Given the description of an element on the screen output the (x, y) to click on. 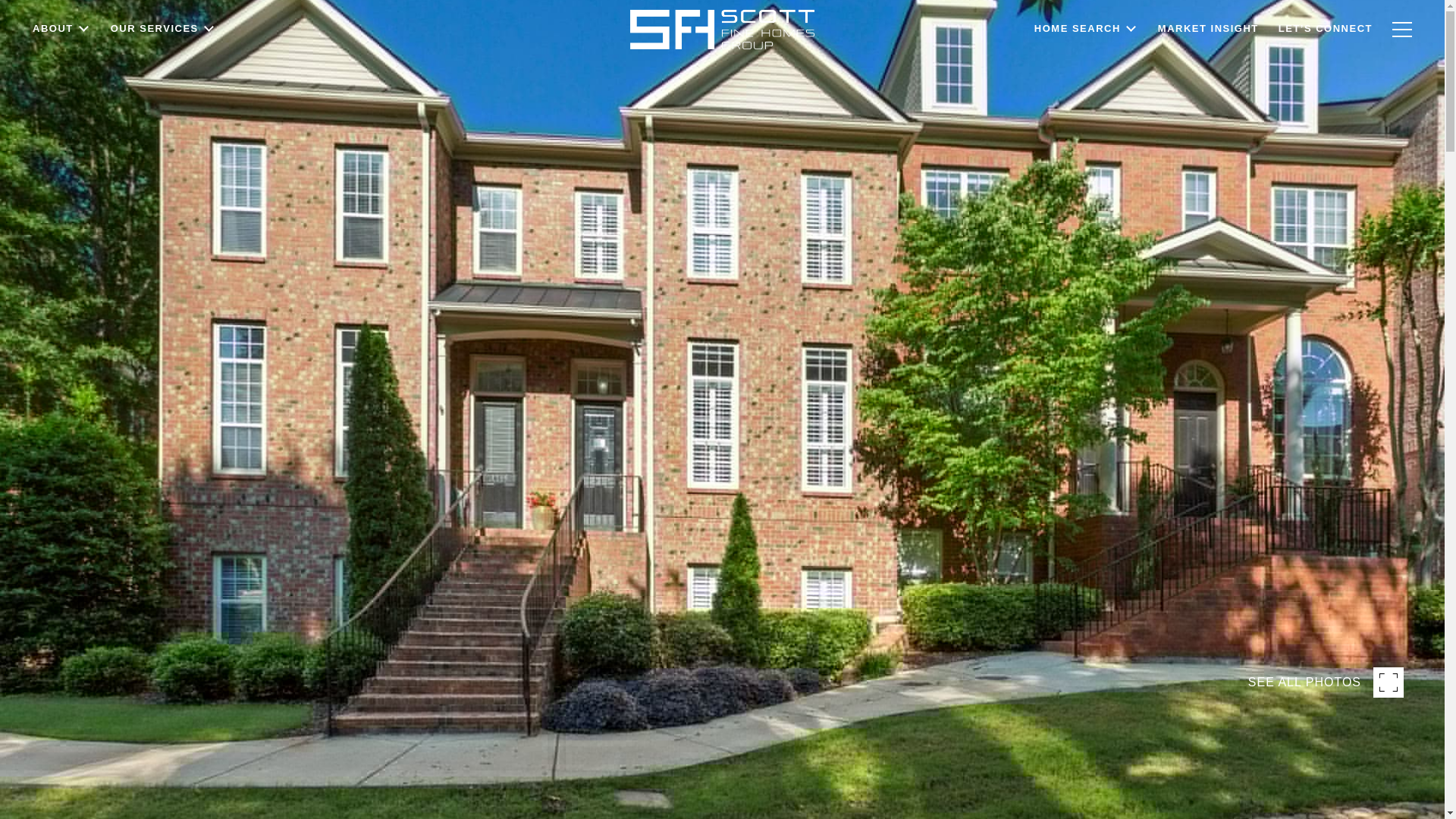
ABOUT (61, 66)
HOME SEARCH (1086, 37)
OUR SERVICES (162, 58)
MARKET INSIGHT (1208, 34)
